Given the description of an element on the screen output the (x, y) to click on. 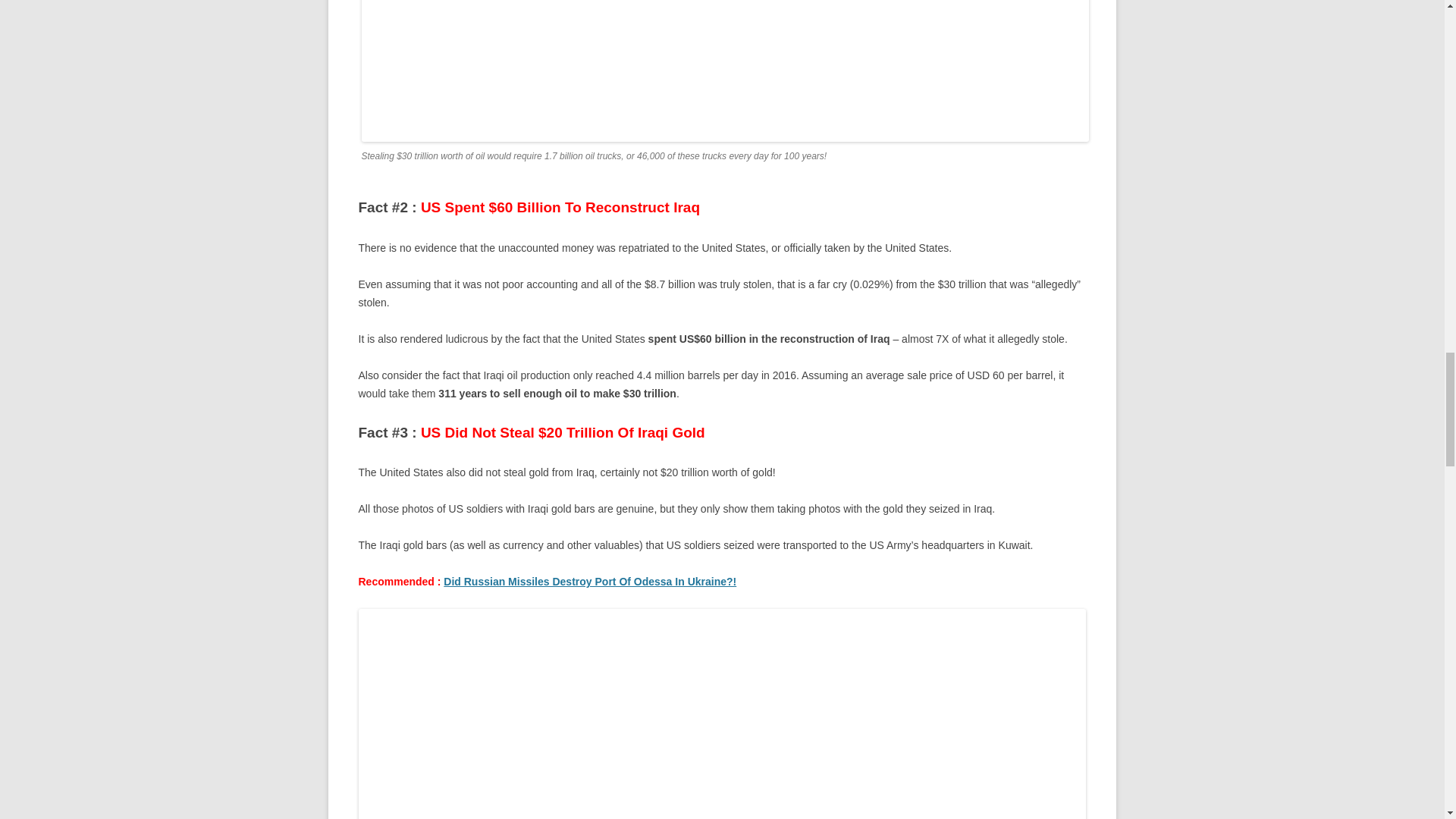
Did Russian Missiles Destroy Port Of Odessa In Ukraine?! (590, 581)
